Given the description of an element on the screen output the (x, y) to click on. 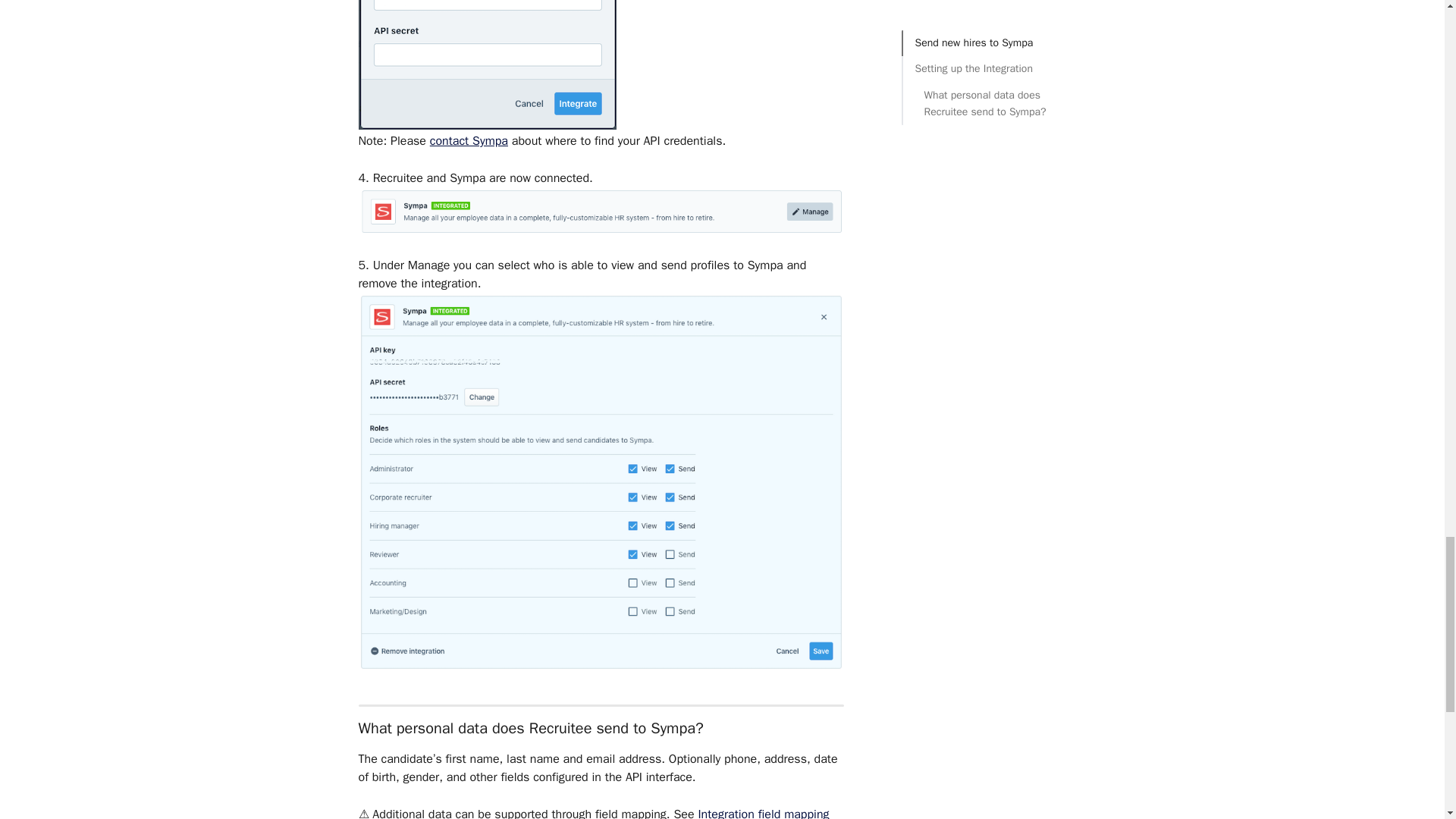
Integration field mapping (762, 812)
contact Sympa (468, 140)
